Given the description of an element on the screen output the (x, y) to click on. 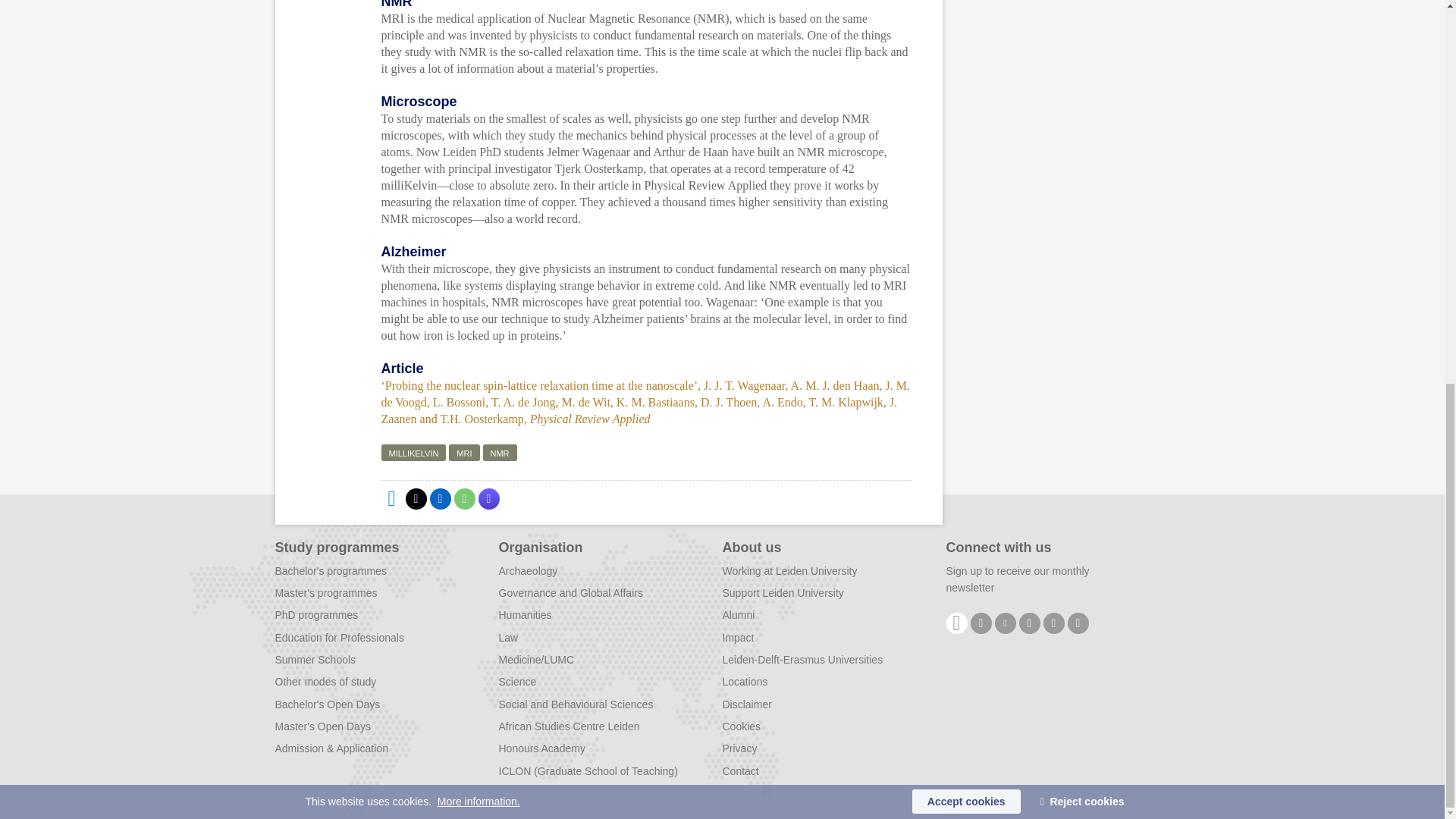
NMR (498, 452)
Share on LinkedIn (439, 498)
Share on Facebook (390, 498)
Share on X (415, 498)
MILLIKELVIN (412, 452)
MRI (463, 452)
Share by Mastodon (488, 498)
Share by WhatsApp (463, 498)
